Given the description of an element on the screen output the (x, y) to click on. 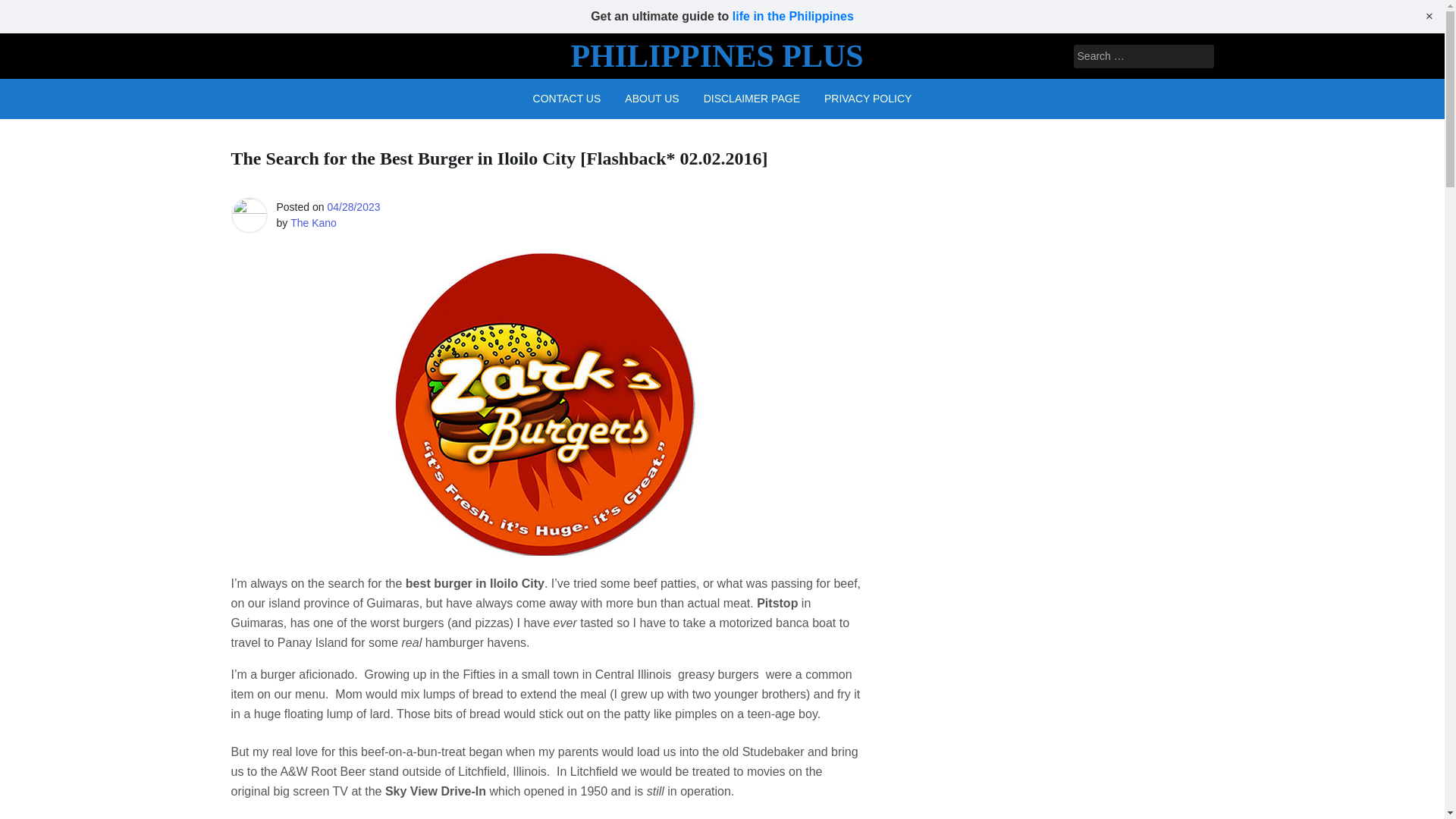
DISCLAIMER PAGE (751, 98)
PRIVACY POLICY (867, 98)
PHILIPPINES PLUS (716, 55)
CONTACT US (566, 98)
Search (32, 12)
ABOUT US (651, 98)
The Kano (312, 223)
life in the Philippines (792, 15)
